Given the description of an element on the screen output the (x, y) to click on. 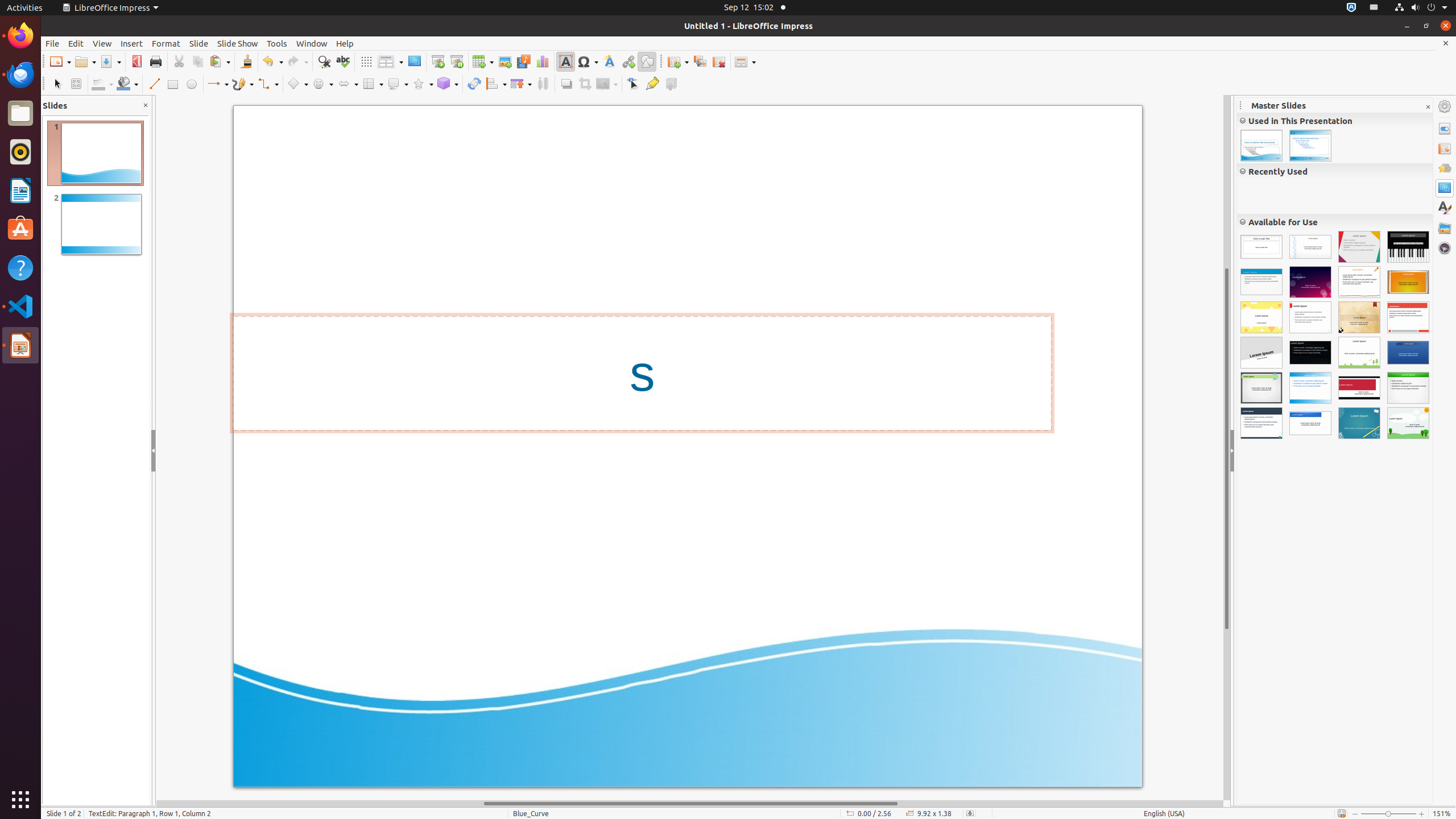
Toggle Extrusion Element type: push-button (670, 83)
Slide Layout Element type: push-button (744, 61)
Zoom & Pan Element type: push-button (75, 83)
Symbol Shapes Element type: push-button (321, 83)
Tools Element type: menu (276, 43)
